Given the description of an element on the screen output the (x, y) to click on. 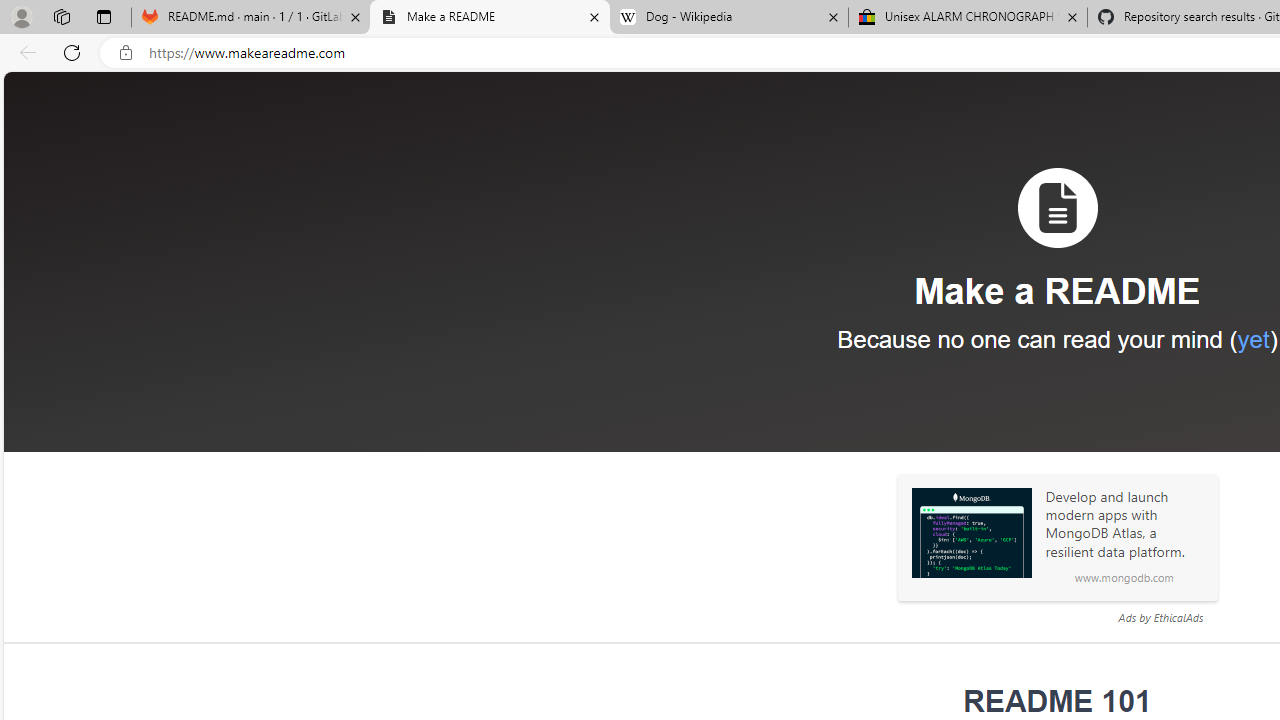
Sponsored: MongoDB (971, 533)
yet (1252, 339)
Make a README (490, 17)
Dog - Wikipedia (729, 17)
Sponsored: MongoDB (971, 533)
Ads by EthicalAds (1160, 617)
